Given the description of an element on the screen output the (x, y) to click on. 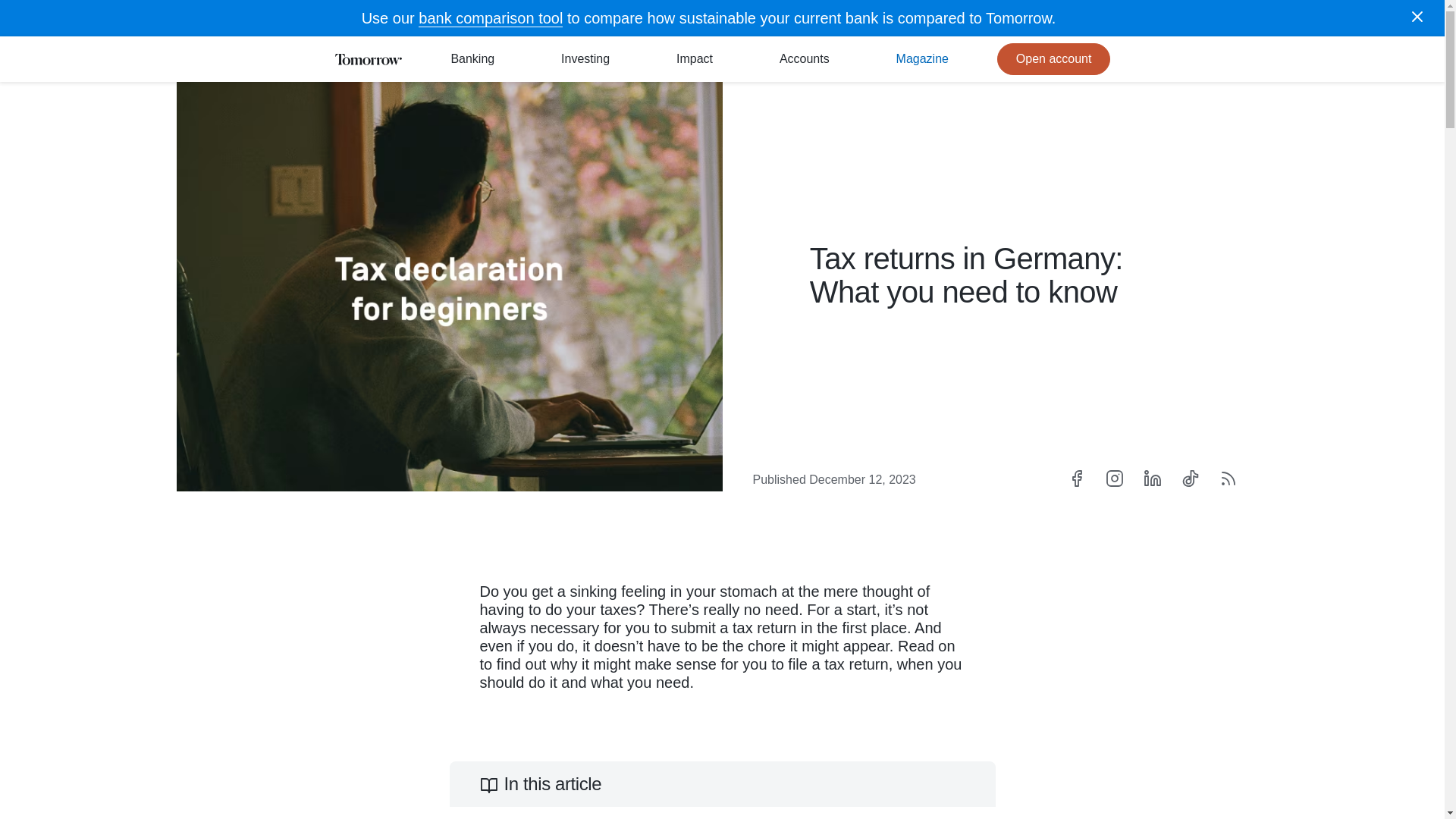
bank comparison tool (490, 18)
Magazine (921, 59)
Sustainable investments with Tomorrow (585, 59)
TikTok (1189, 478)
LinkedIn (1151, 478)
Skip to content (14, 15)
Compare accounts (804, 59)
Tomorrow (367, 59)
Facebook (1075, 478)
Banking with Tomorrow (472, 59)
